Given the description of an element on the screen output the (x, y) to click on. 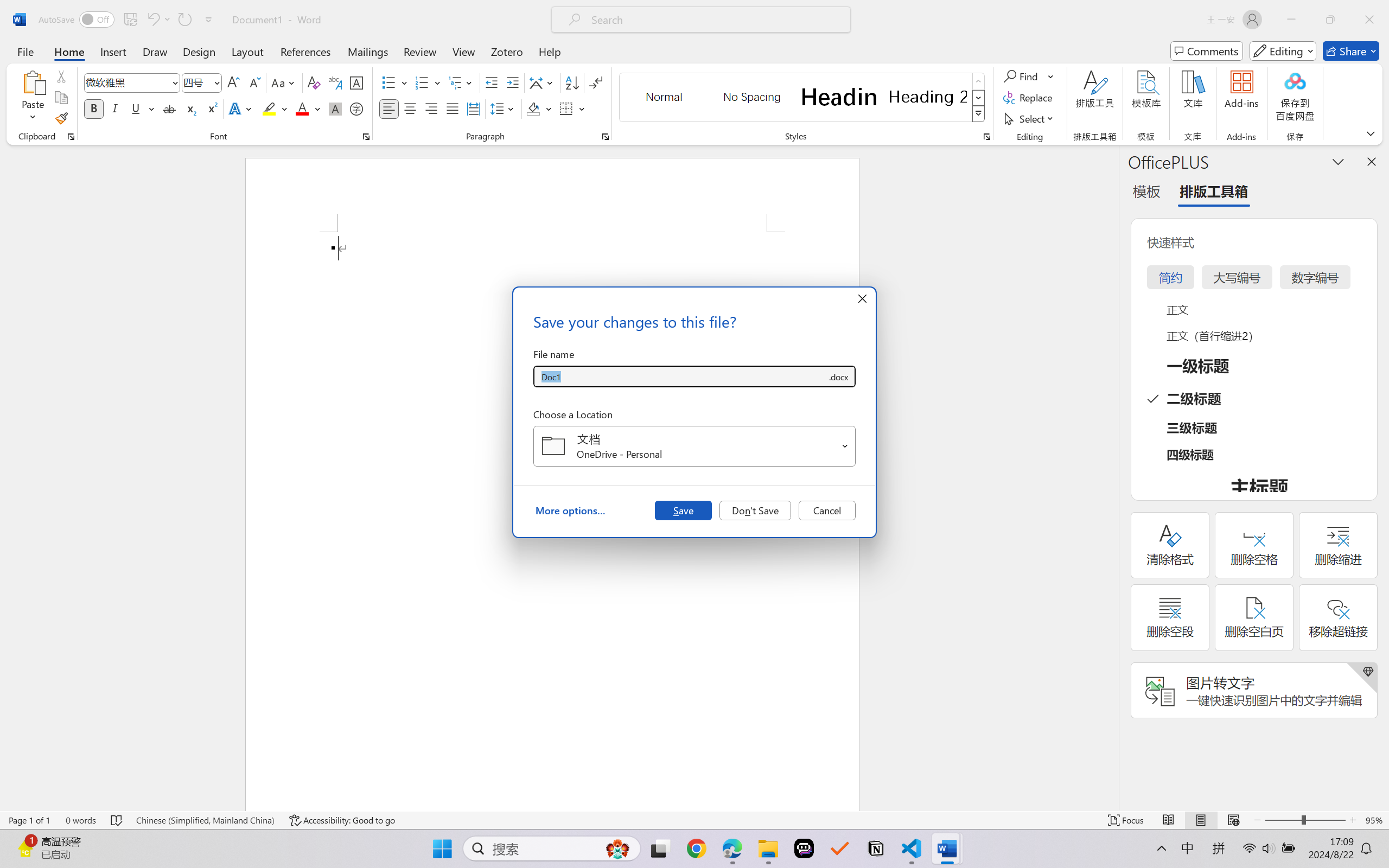
Repeat Style (184, 19)
File name (680, 376)
